Given the description of an element on the screen output the (x, y) to click on. 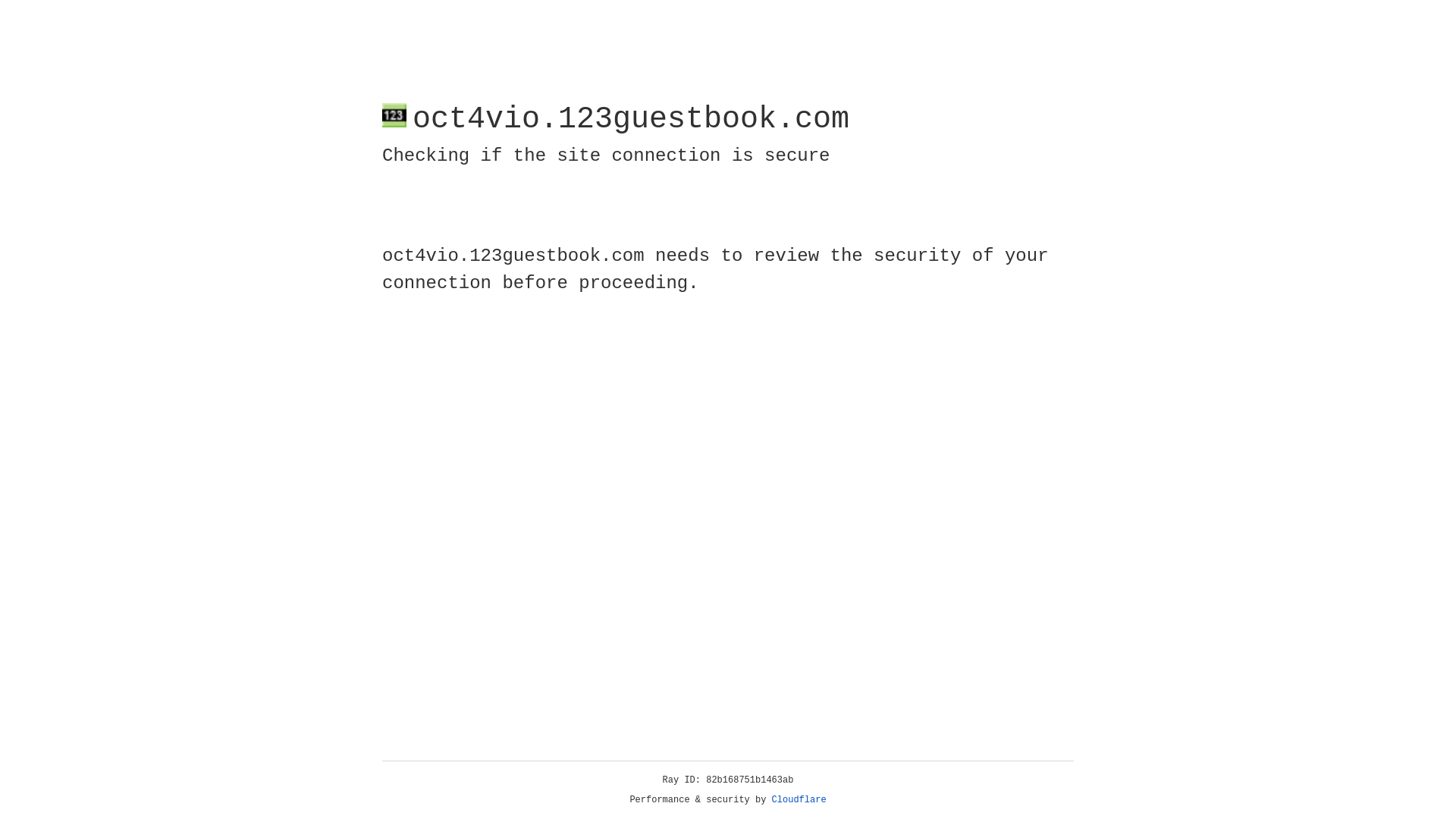
Cloudflare Element type: text (798, 799)
